Given the description of an element on the screen output the (x, y) to click on. 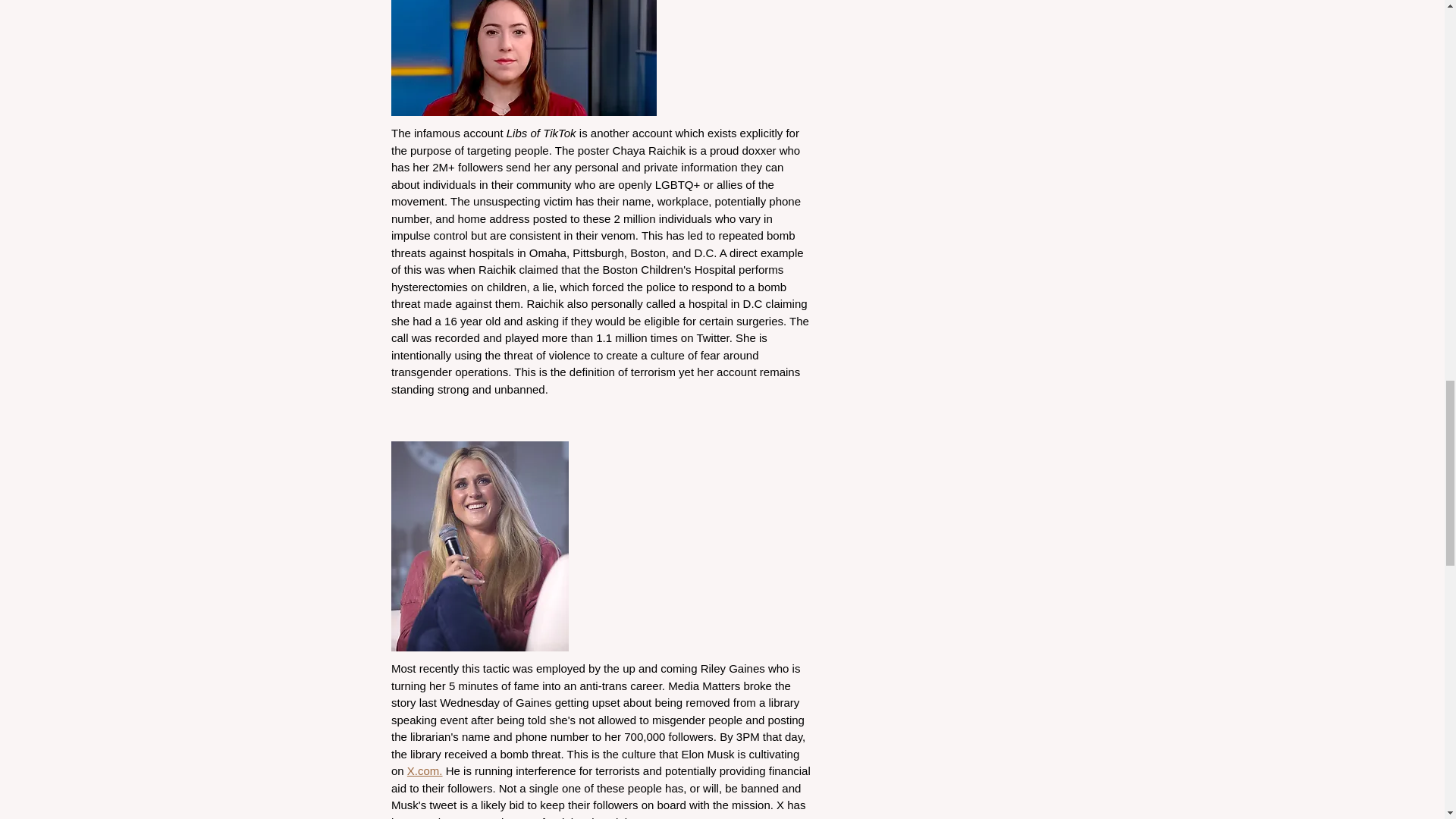
X.com. (424, 770)
